Given the description of an element on the screen output the (x, y) to click on. 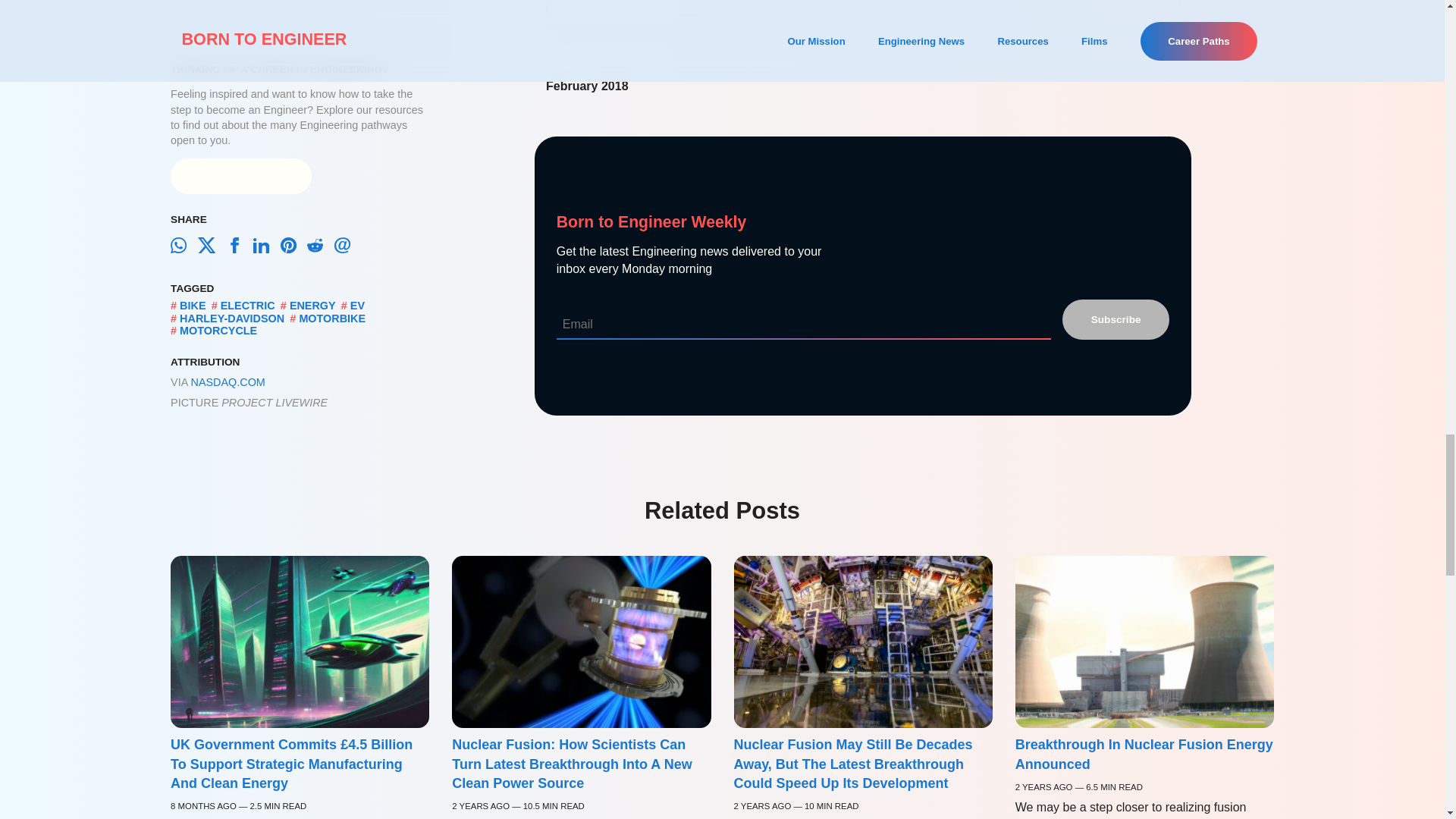
Subscribe (1115, 319)
